Given the description of an element on the screen output the (x, y) to click on. 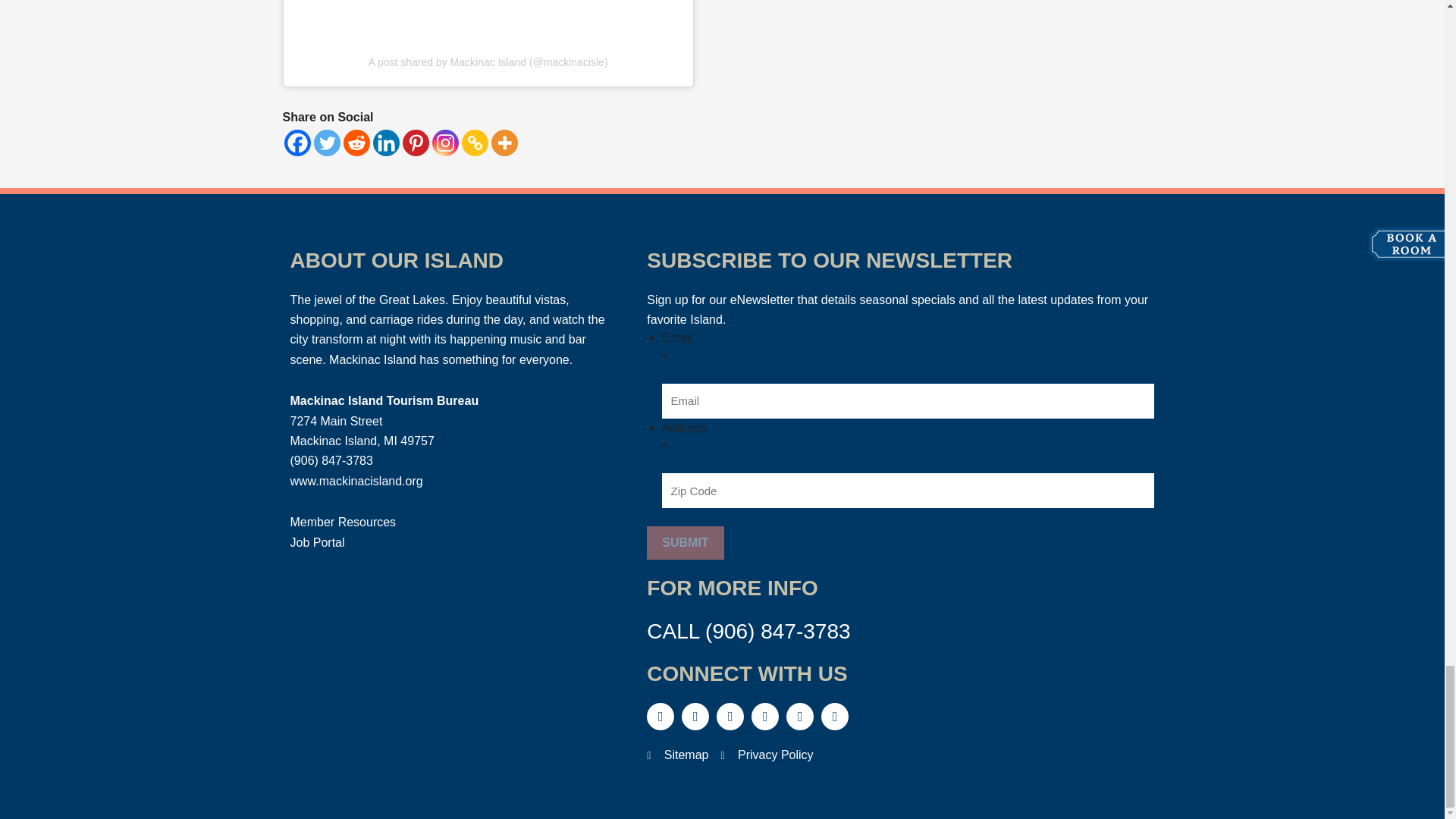
Twitter (327, 142)
Reddit (355, 142)
Linkedin (385, 142)
Facebook (296, 142)
Pinterest (414, 142)
Instagram (445, 142)
More (505, 142)
Submit (684, 542)
Copy Link (474, 142)
